Given the description of an element on the screen output the (x, y) to click on. 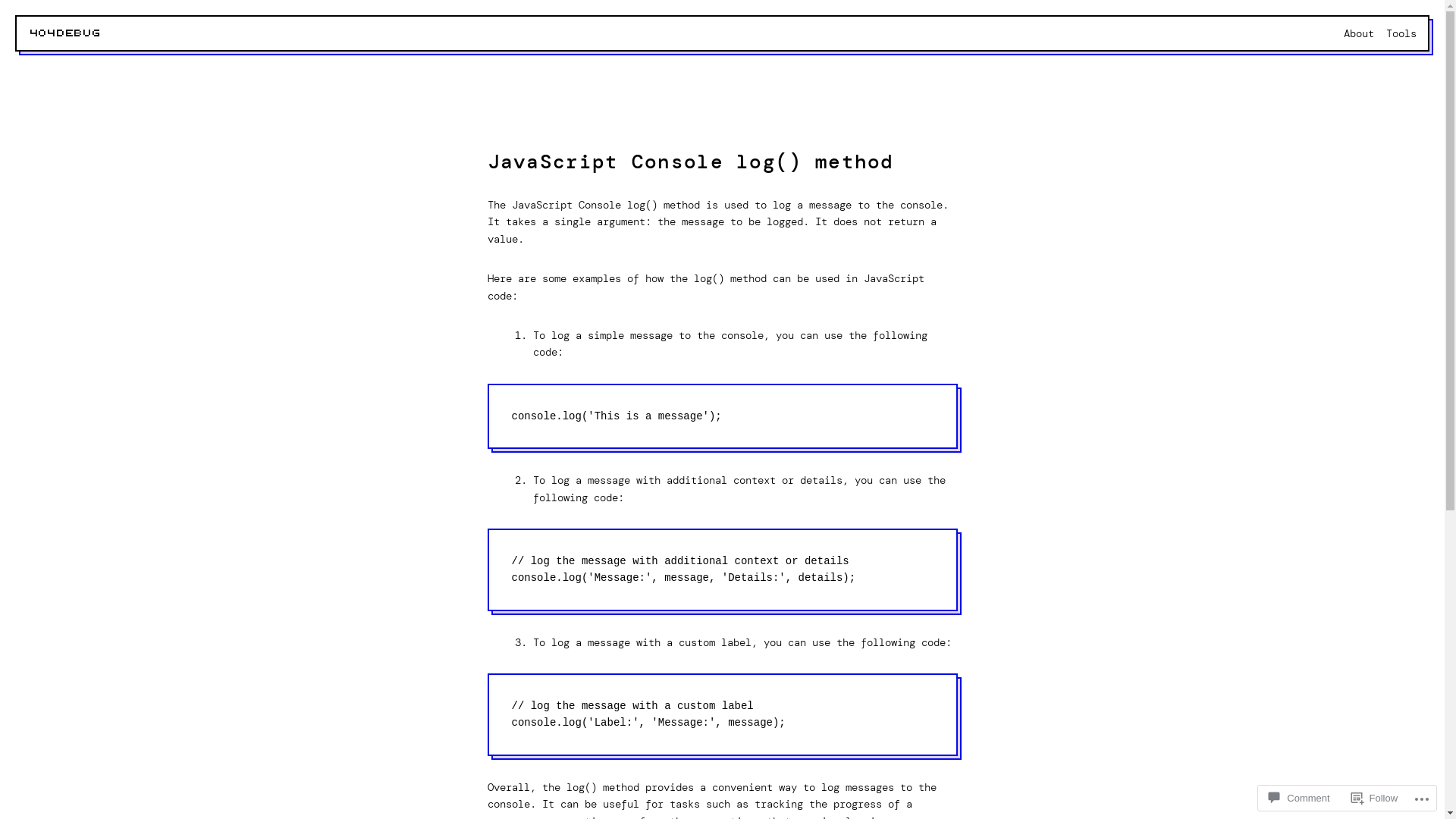
About Element type: text (1358, 33)
Tools Element type: text (1401, 33)
Comment Element type: text (1298, 797)
404DEBUG Element type: text (65, 33)
Follow Element type: text (1374, 797)
